Given the description of an element on the screen output the (x, y) to click on. 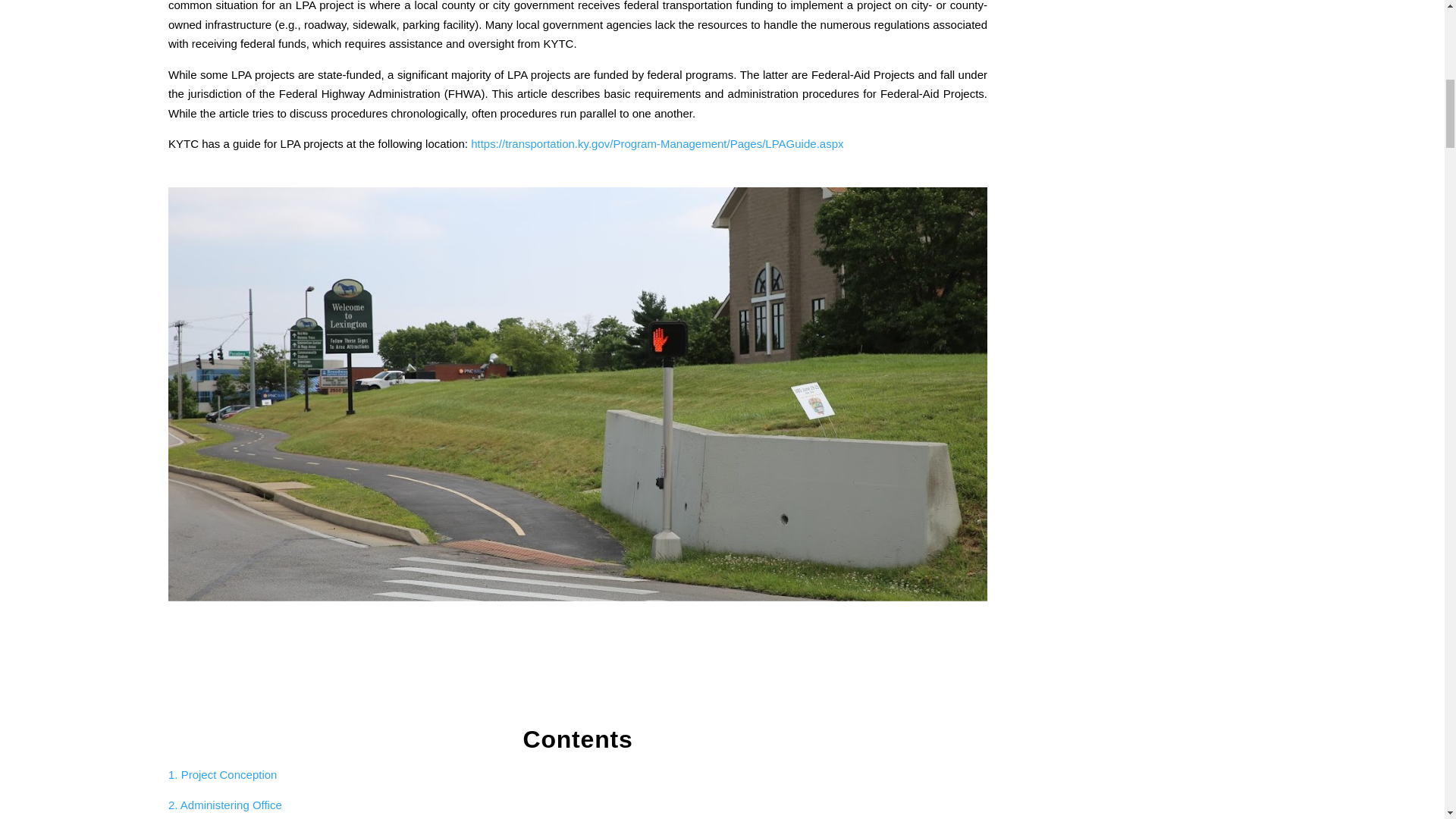
2. Administering Office (225, 804)
1. Project Conception (222, 774)
